Given the description of an element on the screen output the (x, y) to click on. 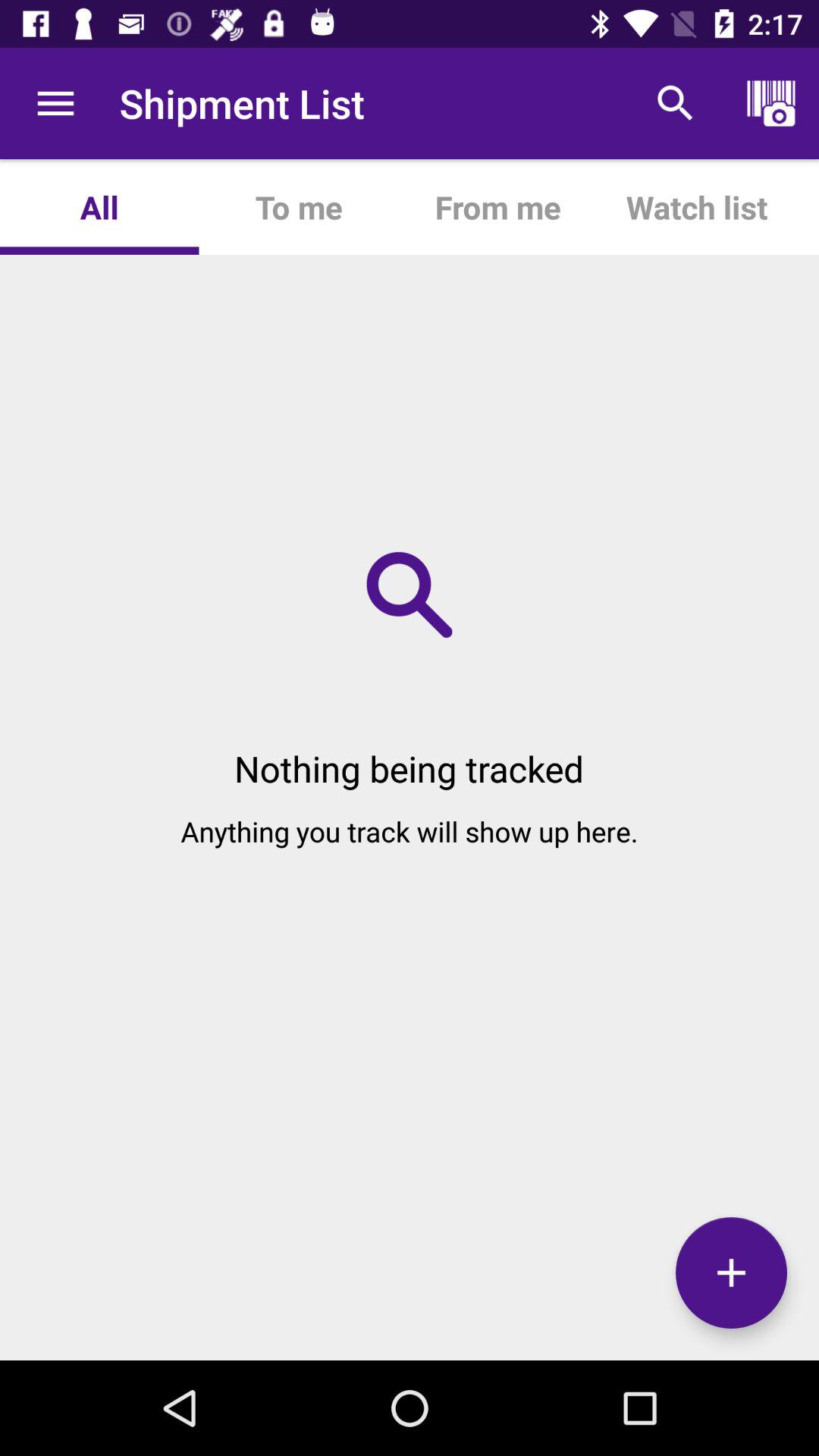
click the app to the right of all icon (298, 206)
